Given the description of an element on the screen output the (x, y) to click on. 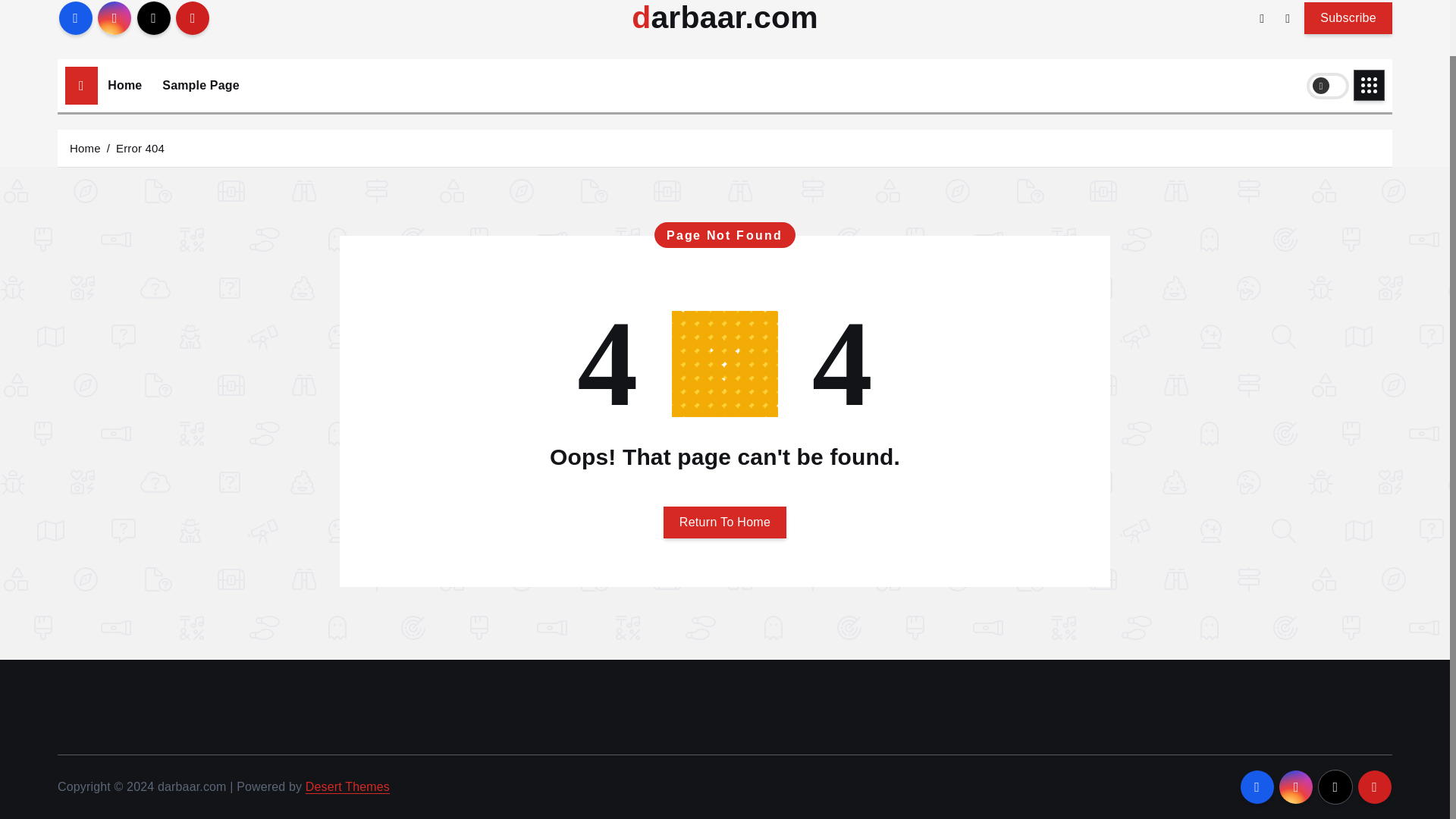
Home (124, 85)
Home (124, 85)
Subscribe (1347, 17)
Home (84, 146)
darbaar.com (724, 17)
Error 404 (140, 146)
Desert Themes (347, 786)
Return To Home (724, 522)
Sample Page (200, 85)
